Given the description of an element on the screen output the (x, y) to click on. 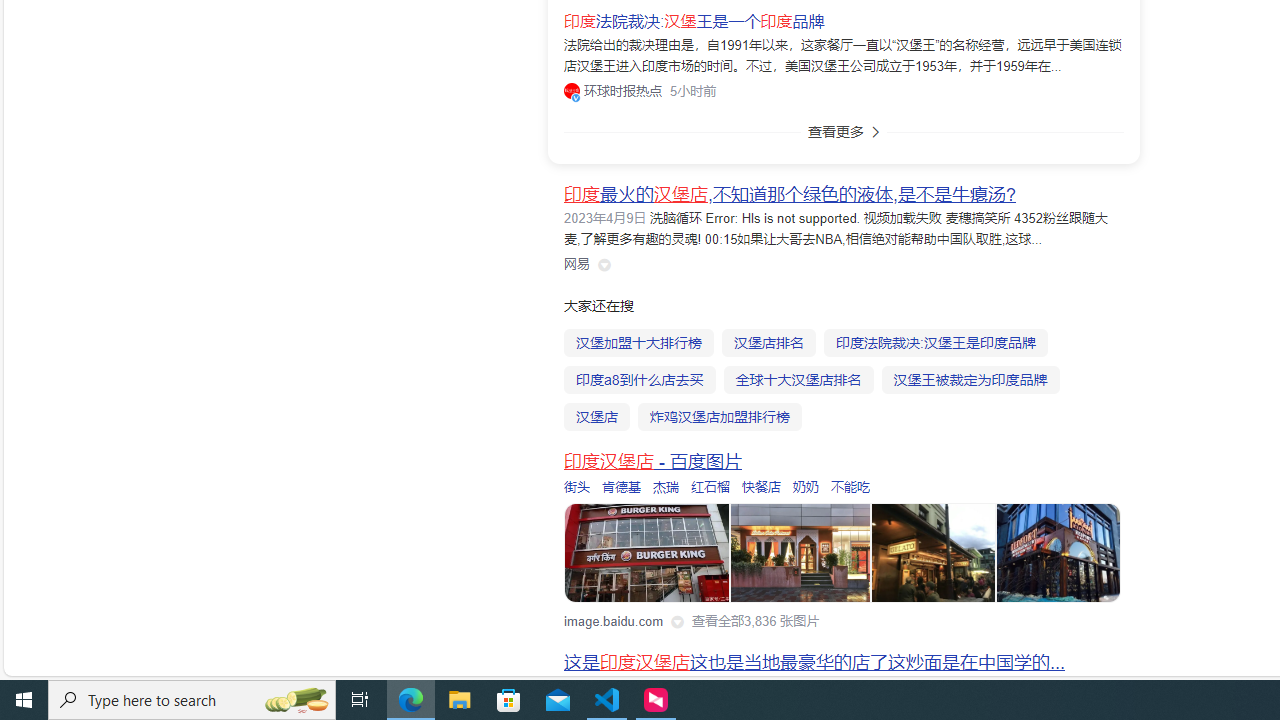
Class: siteLink_9TPP3 (577, 264)
